Given the description of an element on the screen output the (x, y) to click on. 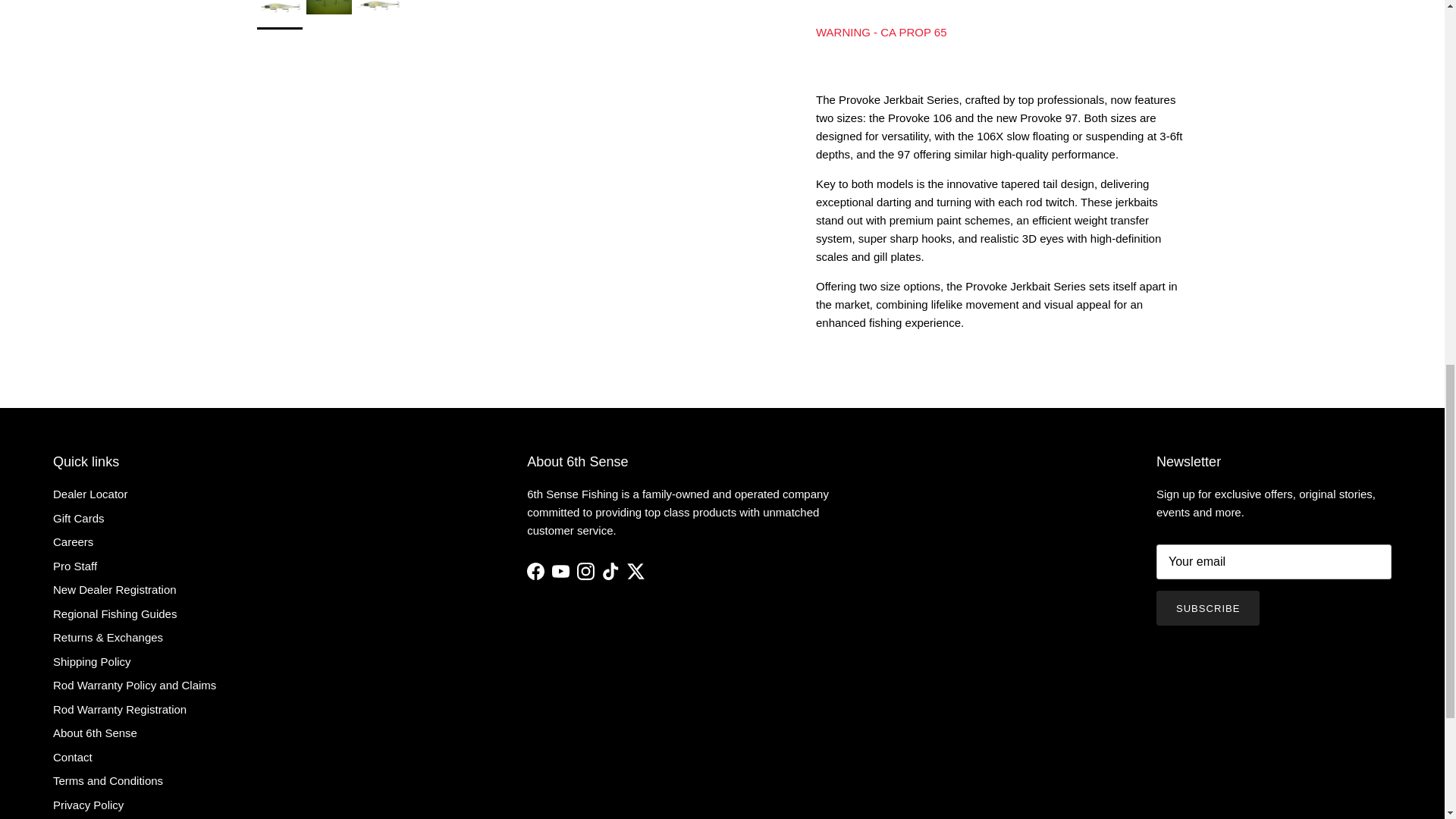
6th Sense Fishing on TikTok (611, 570)
6th Sense Fishing on Twitter (636, 570)
6th Sense Fishing on YouTube (560, 570)
6th Sense Fishing on Facebook (535, 570)
6th Sense Fishing on Instagram (585, 570)
